Given the description of an element on the screen output the (x, y) to click on. 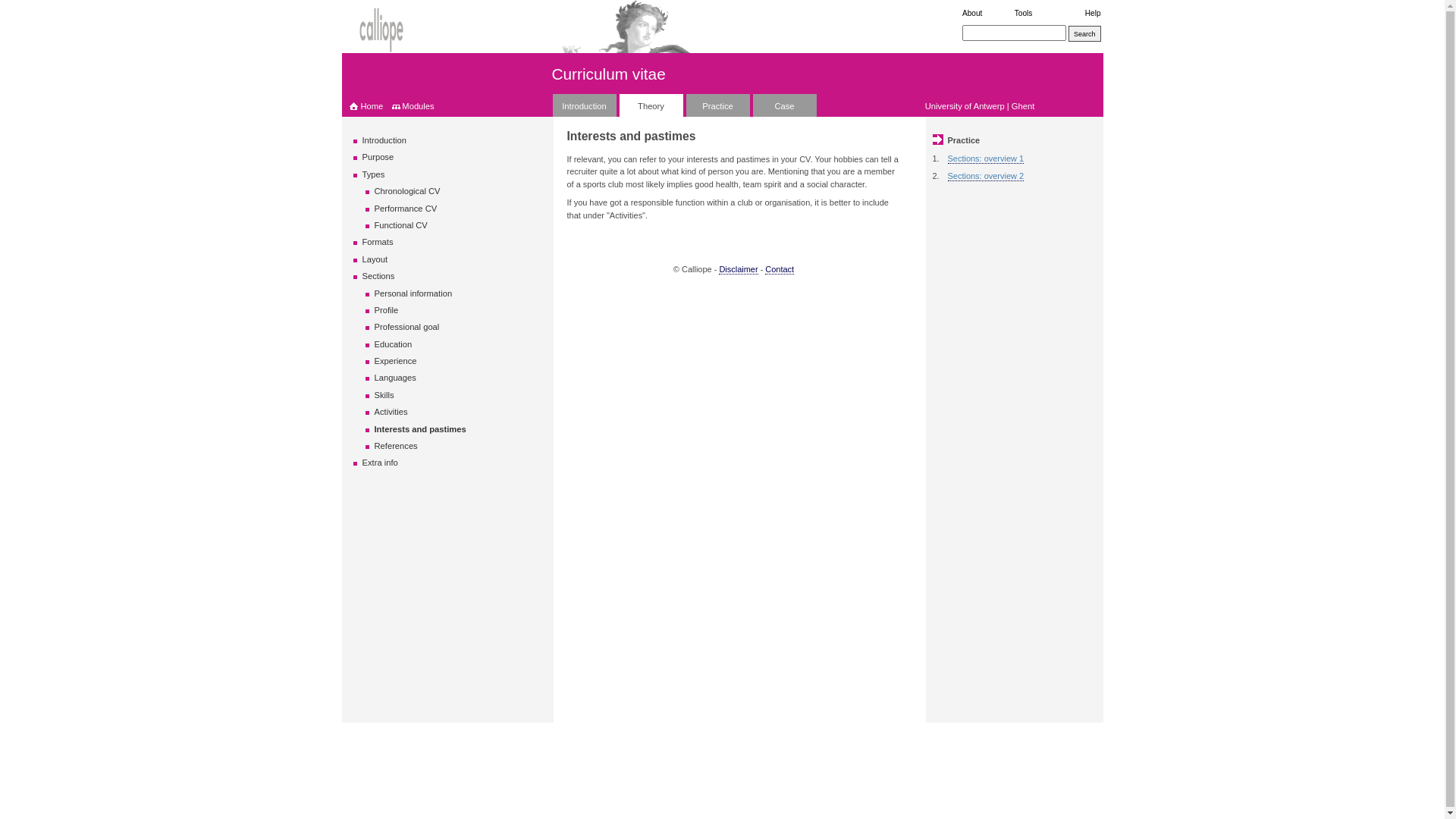
Help Element type: text (1093, 13)
Types Element type: text (373, 173)
Performance CV Element type: text (405, 208)
Sections: overview 2 Element type: text (985, 176)
Introduction Element type: text (384, 139)
References Element type: text (395, 445)
Skills Element type: text (384, 394)
Ghent Element type: text (1022, 105)
Tools Element type: text (1023, 13)
Sections Element type: text (378, 275)
Sections: overview 1 Element type: text (985, 158)
Contact Element type: text (779, 269)
Professional goal Element type: text (406, 326)
Disclaimer Element type: text (737, 269)
Interests and pastimes Element type: text (420, 428)
Chronological CV Element type: text (407, 190)
About Element type: text (972, 13)
Case Element type: text (783, 105)
Formats Element type: text (377, 241)
Profile Element type: text (386, 309)
Personal information Element type: text (413, 293)
Theory Element type: text (650, 105)
Practice Element type: text (717, 105)
| Element type: text (1007, 105)
Experience Element type: text (395, 360)
Modules Element type: text (417, 105)
University of Antwerp Element type: text (964, 105)
Education Element type: text (393, 343)
Layout Element type: text (375, 258)
Extra info Element type: text (380, 462)
Purpose Element type: text (378, 156)
Search Element type: text (1084, 33)
Activities Element type: text (390, 411)
Languages Element type: text (395, 377)
Introduction Element type: text (583, 105)
Home Element type: text (365, 105)
Functional CV Element type: text (400, 224)
